Given the description of an element on the screen output the (x, y) to click on. 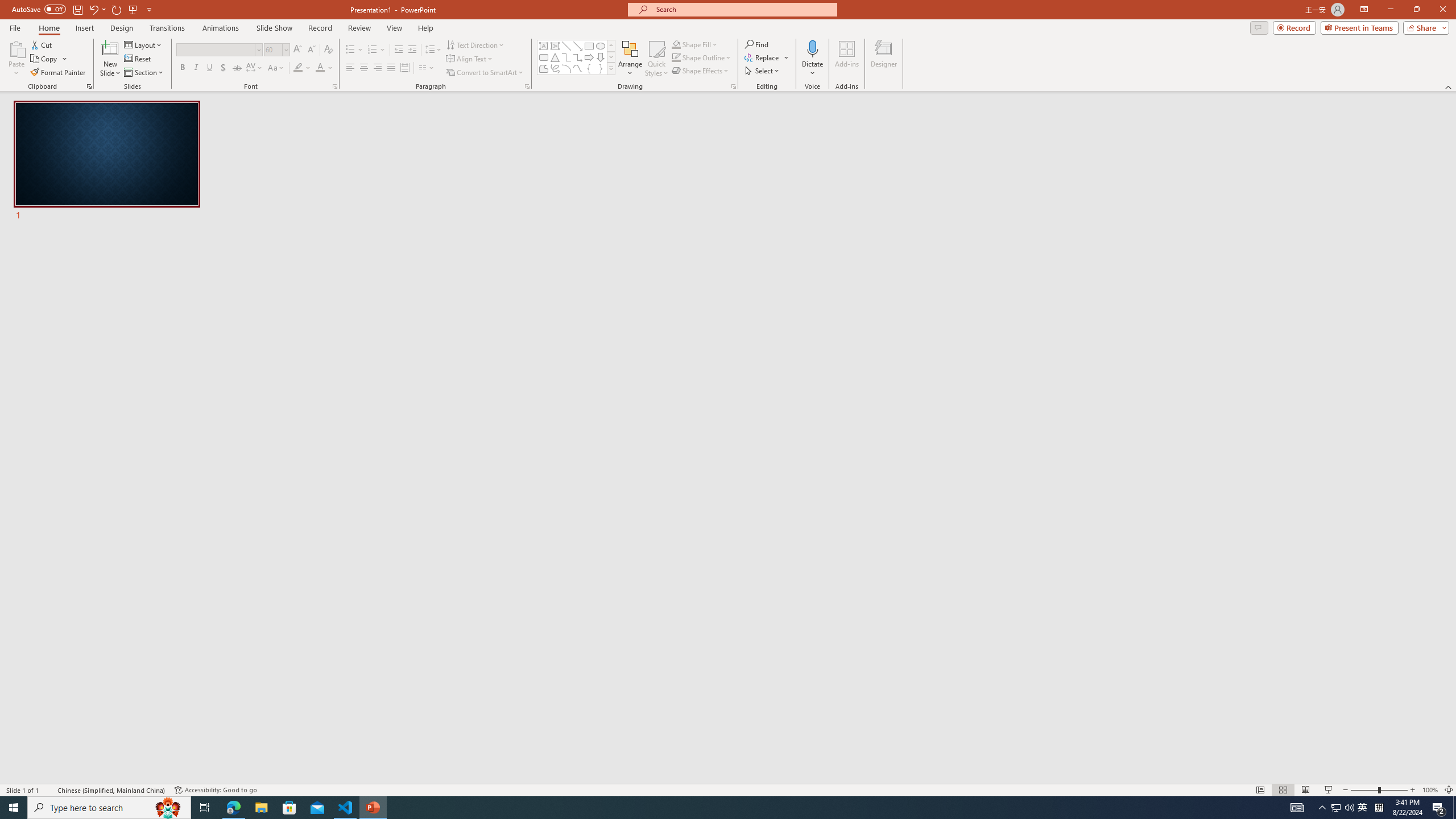
Decrease Indent (398, 49)
Text Direction (476, 44)
Zoom 100% (1430, 790)
Right Brace (600, 68)
